Given the description of an element on the screen output the (x, y) to click on. 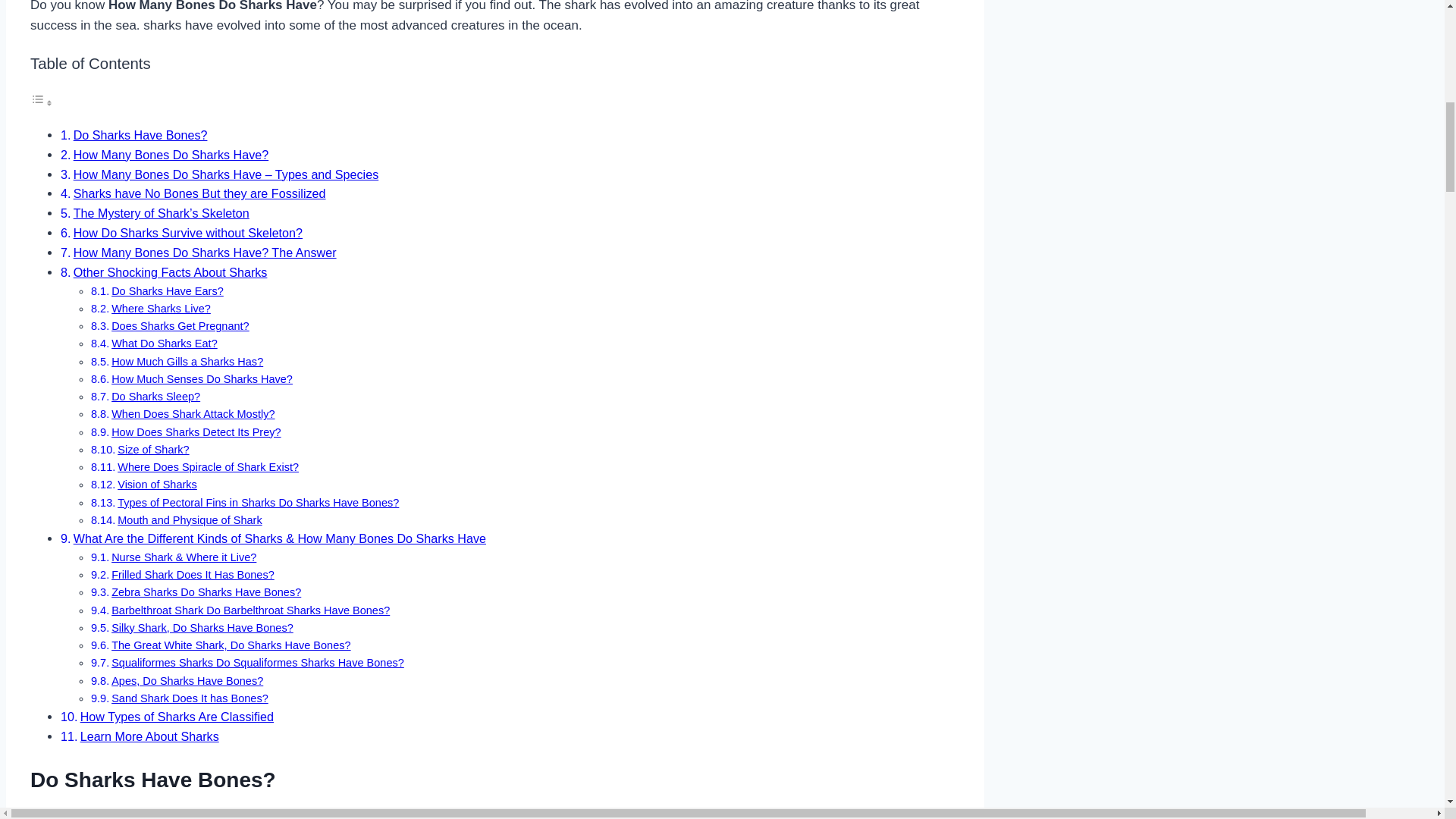
Does Sharks Get Pregnant? (180, 326)
Where Sharks Live? (161, 308)
How Much Gills a Sharks Has? (187, 361)
Other Shocking Facts About Sharks (170, 272)
Do Sharks Have Bones? (141, 134)
Does Sharks Get Pregnant? (180, 326)
How Do Sharks Survive without Skeleton? (188, 232)
How Many Bones Do Sharks Have? The Answer (205, 252)
How Much Gills a Sharks Has? (187, 361)
How Many Bones Do Sharks Have? The Answer (205, 252)
Where Sharks Live? (161, 308)
How Much Senses Do Sharks Have? (202, 378)
What Do Sharks Eat? (164, 343)
How Many Bones Do Sharks Have? (170, 154)
Sharks have No Bones But they are Fossilized (200, 192)
